Given the description of an element on the screen output the (x, y) to click on. 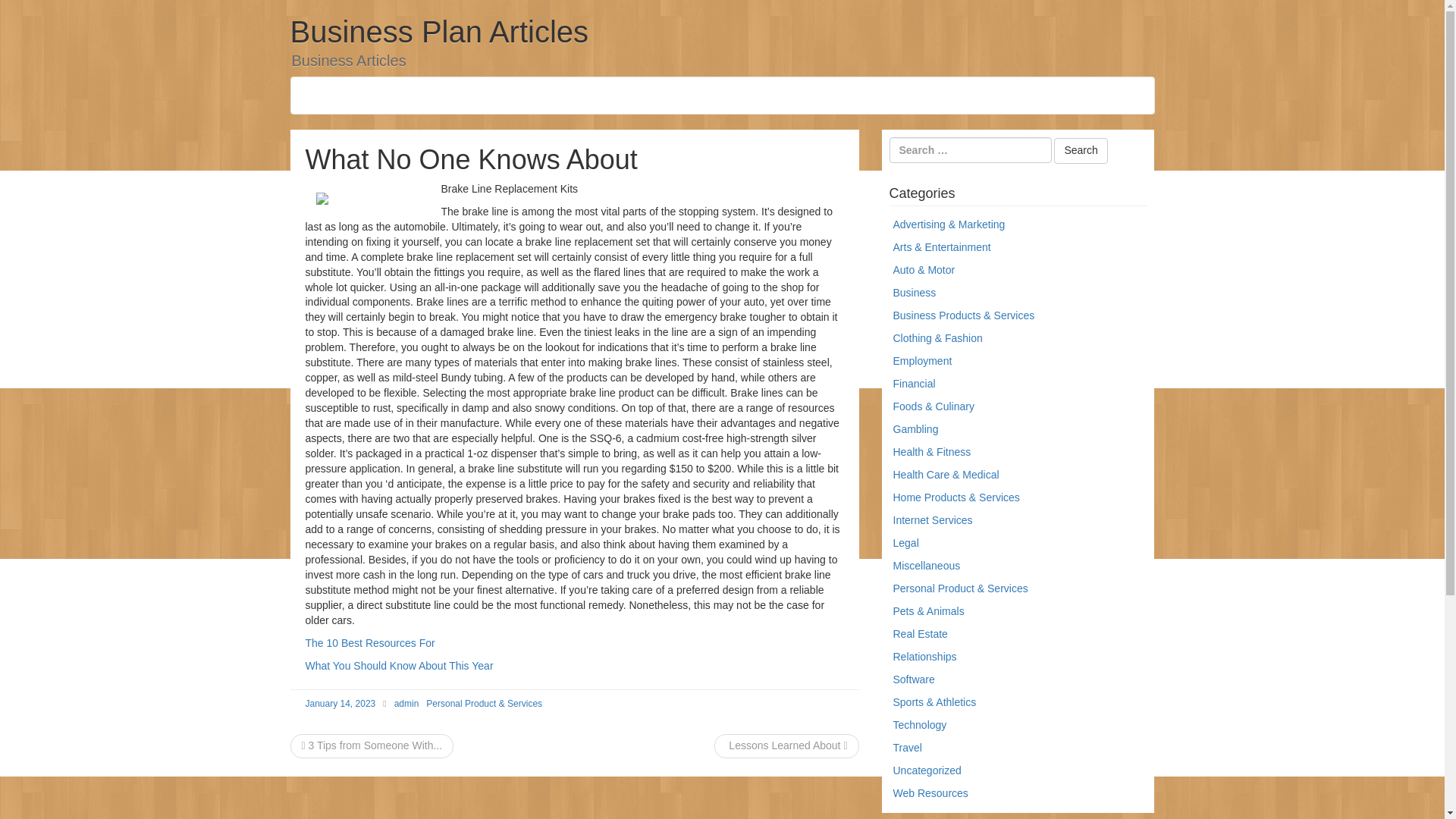
Legal (905, 542)
Gambling (916, 428)
Search (1080, 150)
Travel (907, 747)
Internet Services (932, 520)
Real Estate (920, 633)
January 14, 2023 (339, 703)
Web Resources (930, 793)
Software (913, 679)
Business Plan Articles (438, 31)
Business (914, 292)
Business Plan Articles (438, 31)
Miscellaneous (926, 565)
What You Should Know About This Year (398, 665)
Employment (922, 360)
